Given the description of an element on the screen output the (x, y) to click on. 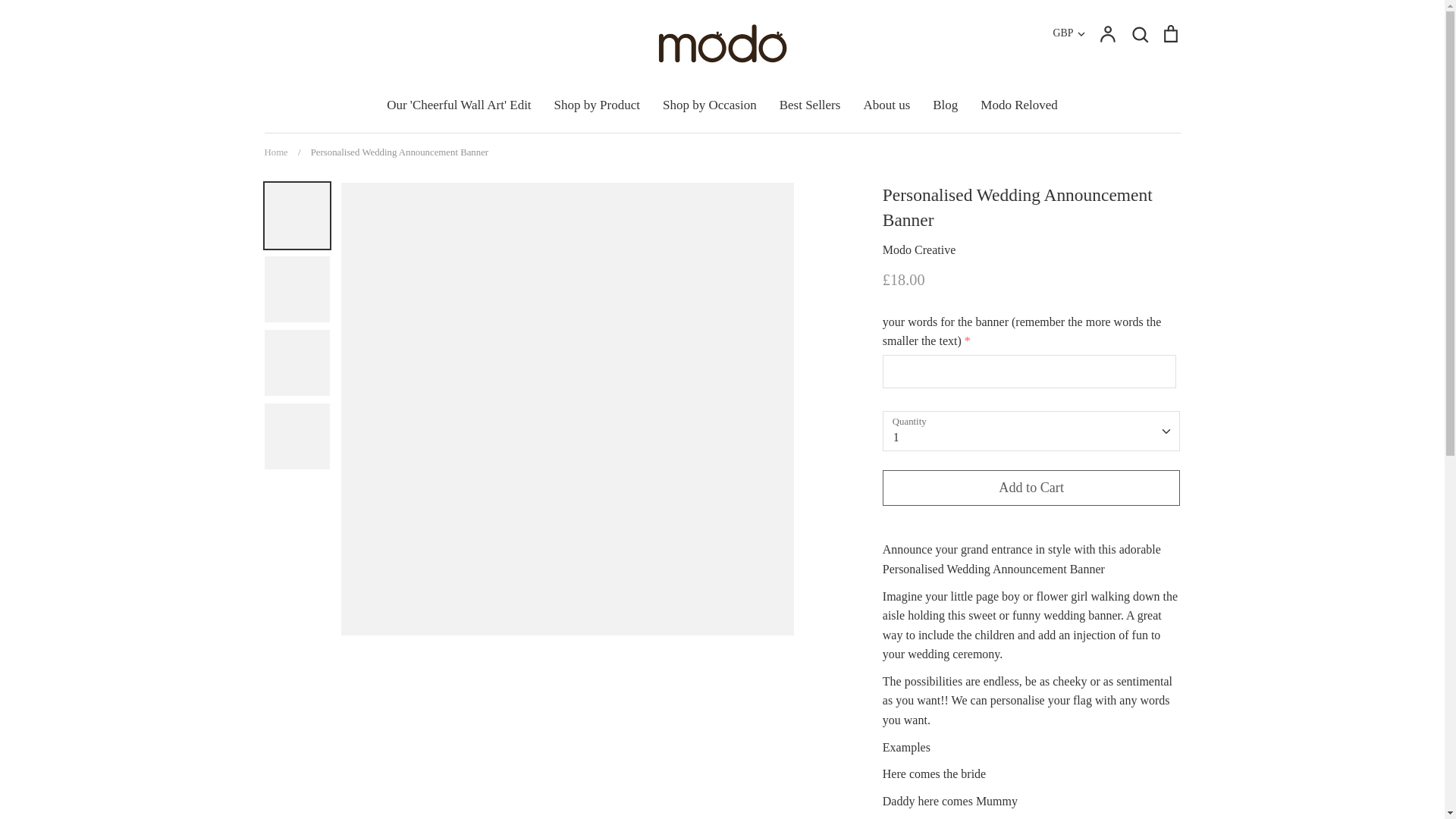
1 (1031, 429)
Our 'Cheerful Wall Art' Edit (459, 104)
Search (1139, 33)
Shop by Product (597, 104)
Account (1107, 33)
Cart (1169, 33)
